Given the description of an element on the screen output the (x, y) to click on. 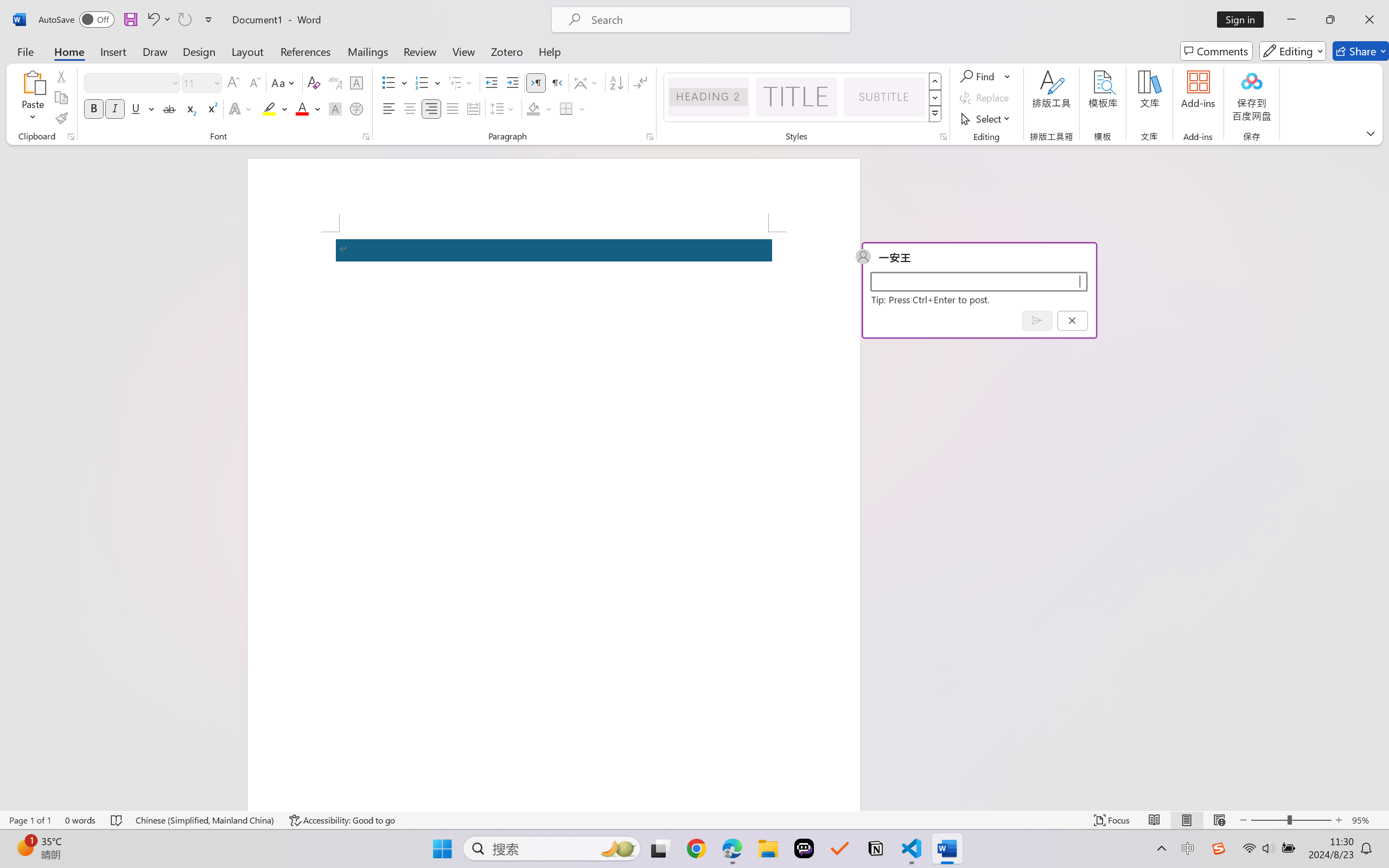
Left-to-Right (535, 82)
Cancel (1072, 320)
